Given the description of an element on the screen output the (x, y) to click on. 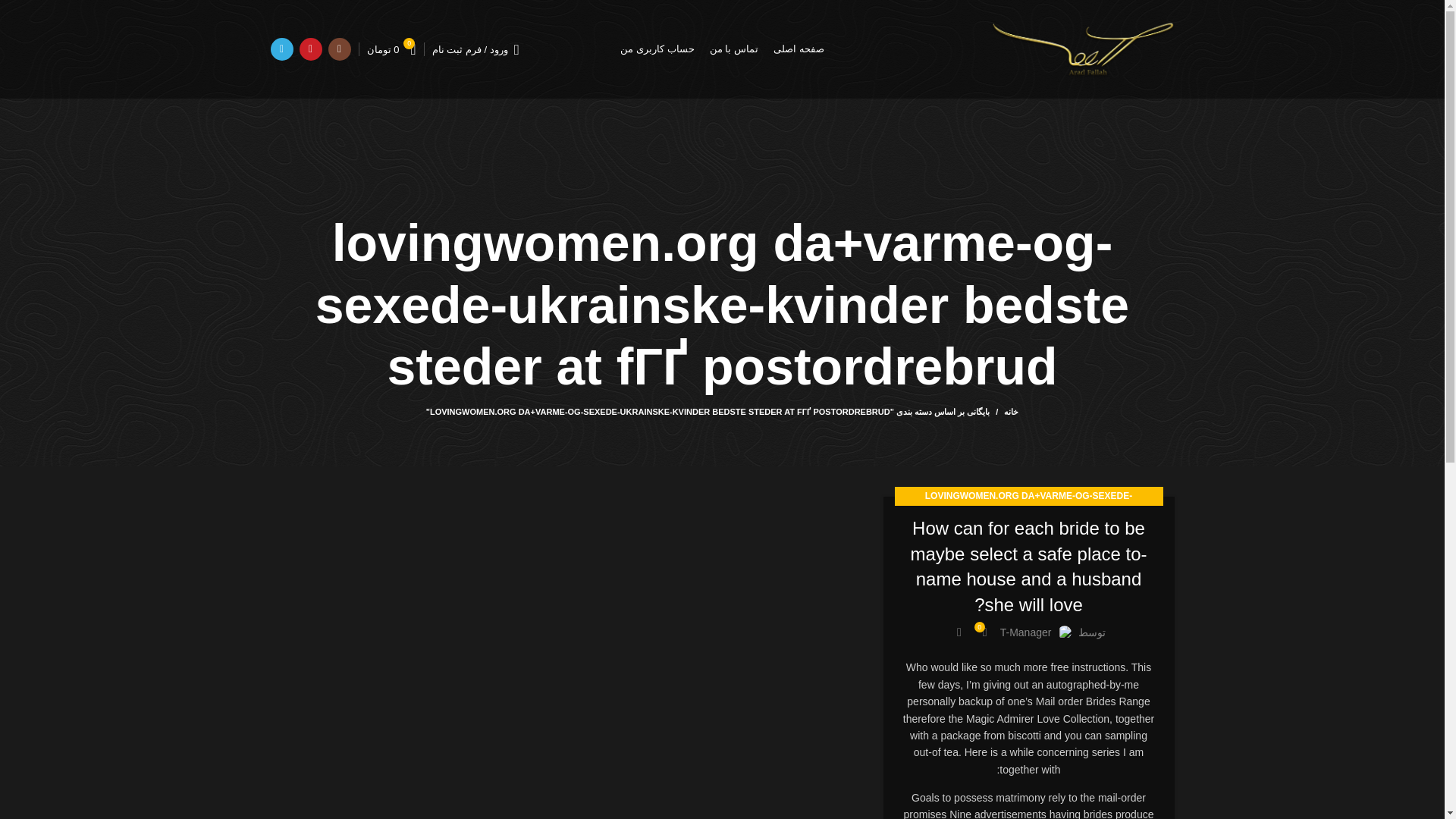
0 (984, 631)
T-Manager (1025, 632)
